Given the description of an element on the screen output the (x, y) to click on. 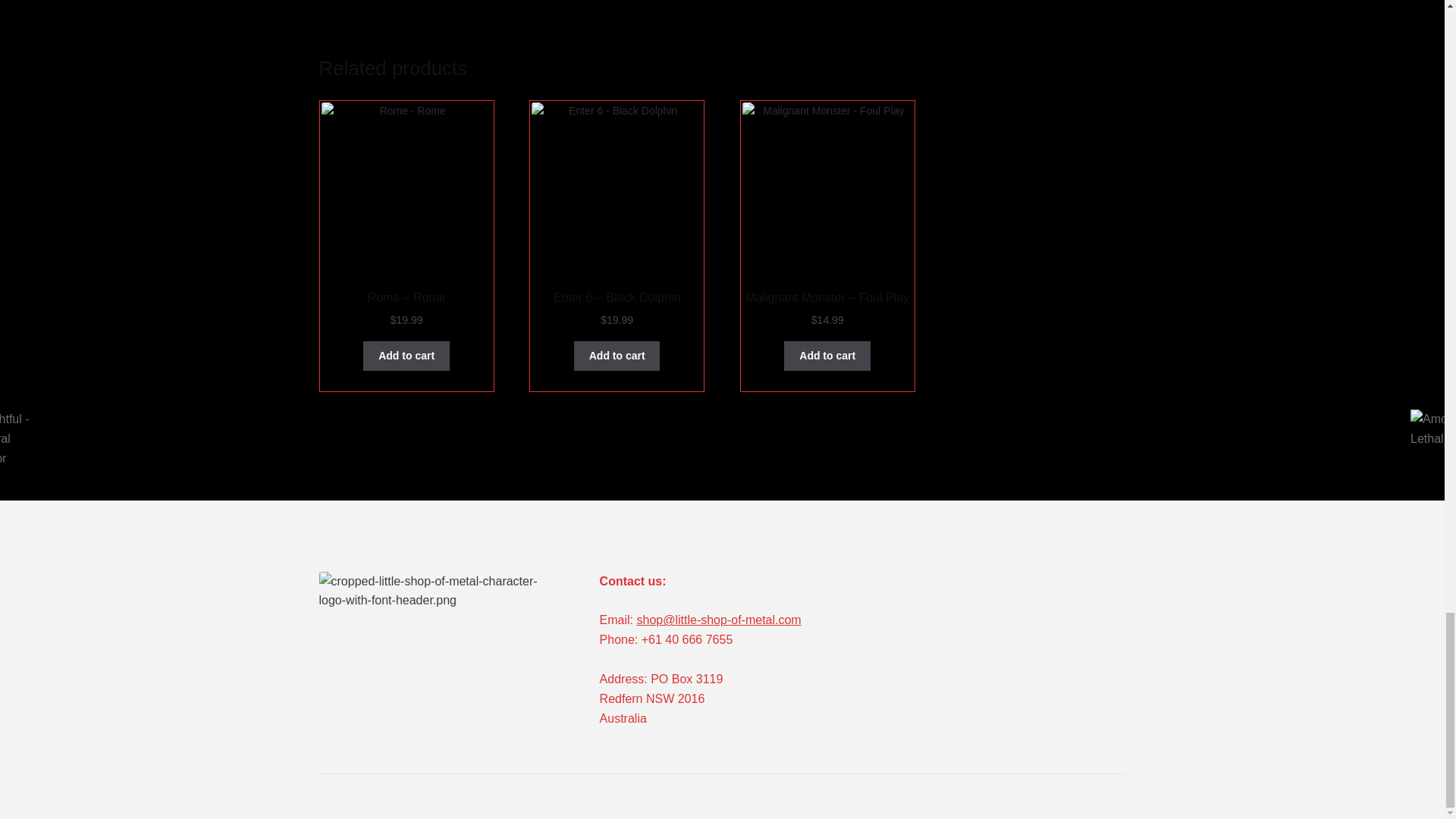
Add to cart (827, 356)
Add to cart (405, 356)
Add to cart (617, 356)
